Given the description of an element on the screen output the (x, y) to click on. 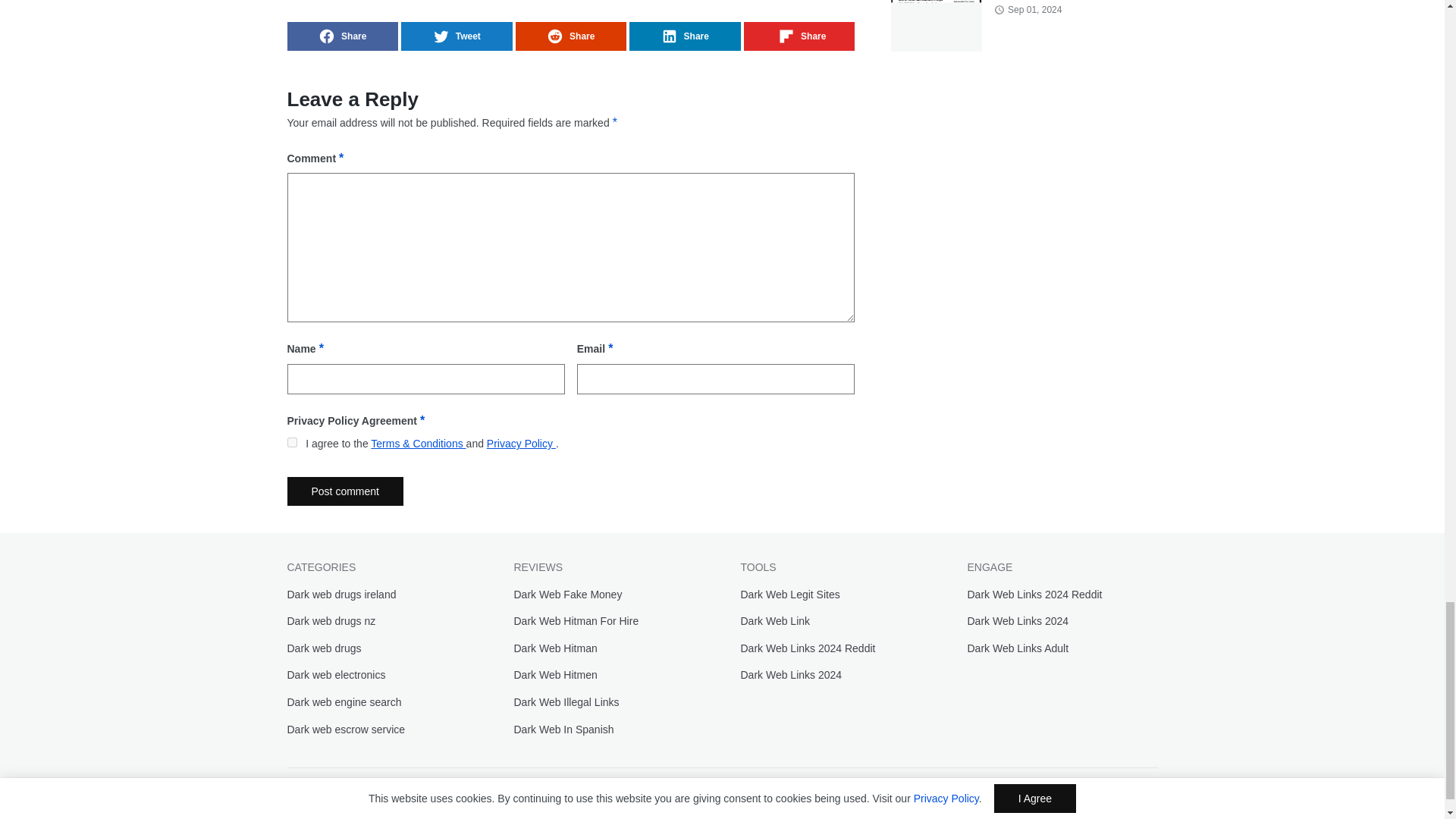
on (291, 442)
